Given the description of an element on the screen output the (x, y) to click on. 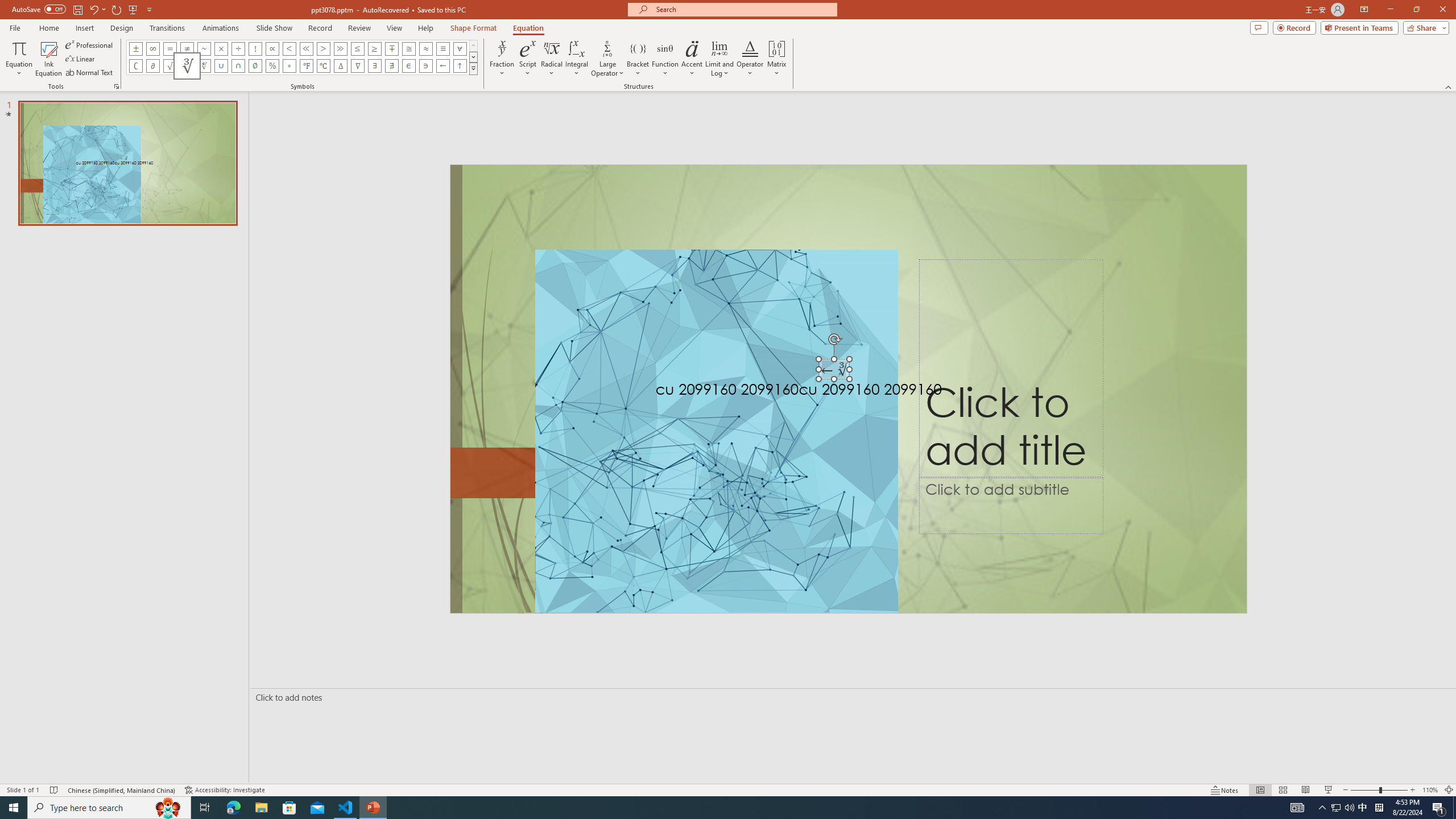
Equation Symbols (472, 68)
Equation Symbol Approximately (203, 48)
Ink Equation (48, 58)
Equation Symbol Multiplication Sign (221, 48)
Equation Symbol Equal (170, 48)
Large Operator (607, 58)
Equation Symbol Proportional To (272, 48)
Equation Symbol Intersection (238, 65)
Equation Options... (116, 85)
Equation Symbol Cube Root (187, 65)
